Given the description of an element on the screen output the (x, y) to click on. 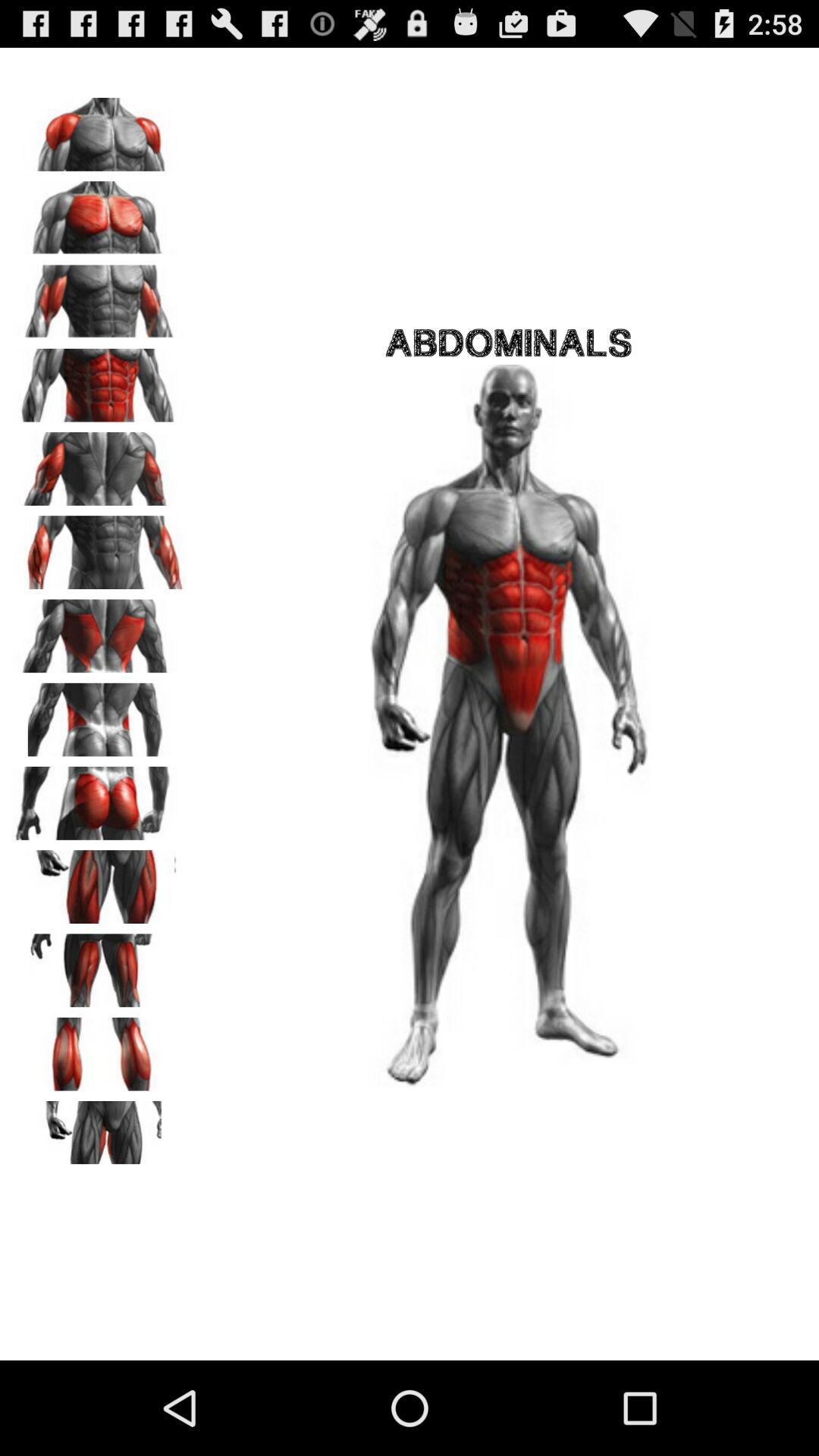
image button (99, 129)
